Given the description of an element on the screen output the (x, y) to click on. 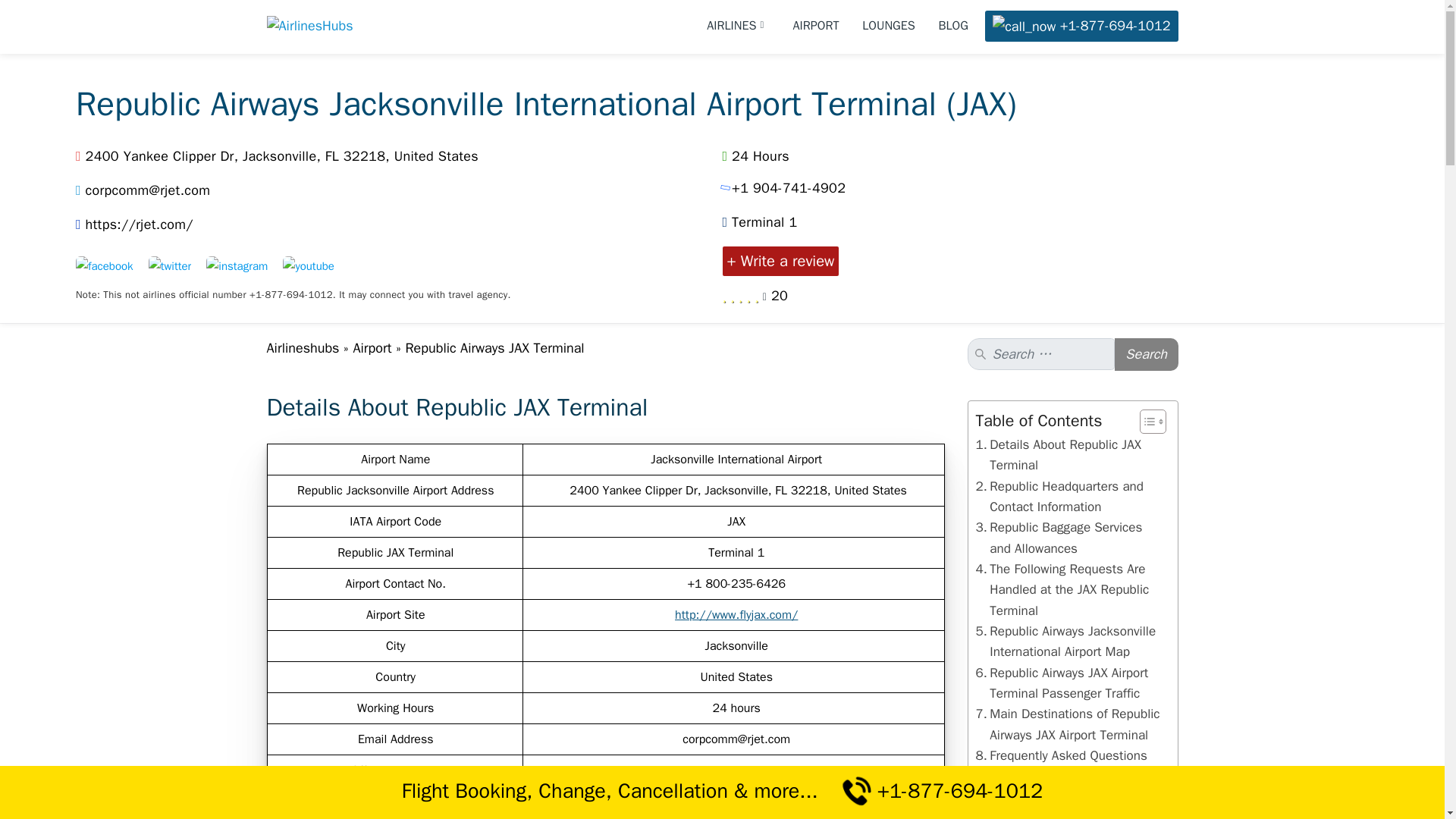
AIRLINES (738, 25)
Search (1146, 354)
AIRPORT (816, 25)
Search (1146, 354)
